Given the description of an element on the screen output the (x, y) to click on. 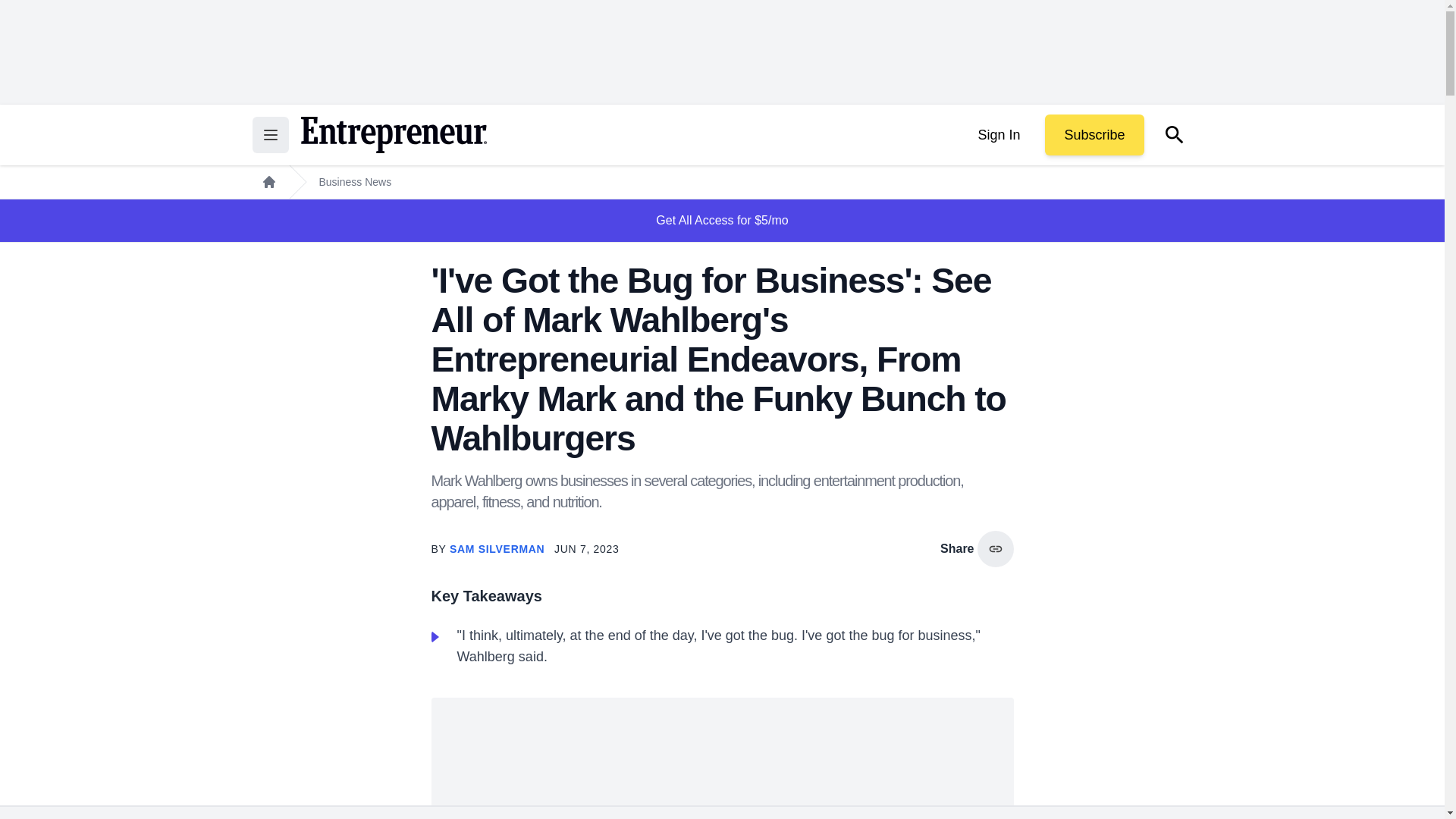
Sign In (998, 134)
Subscribe (1093, 134)
Return to the home page (392, 135)
copy (994, 548)
